Given the description of an element on the screen output the (x, y) to click on. 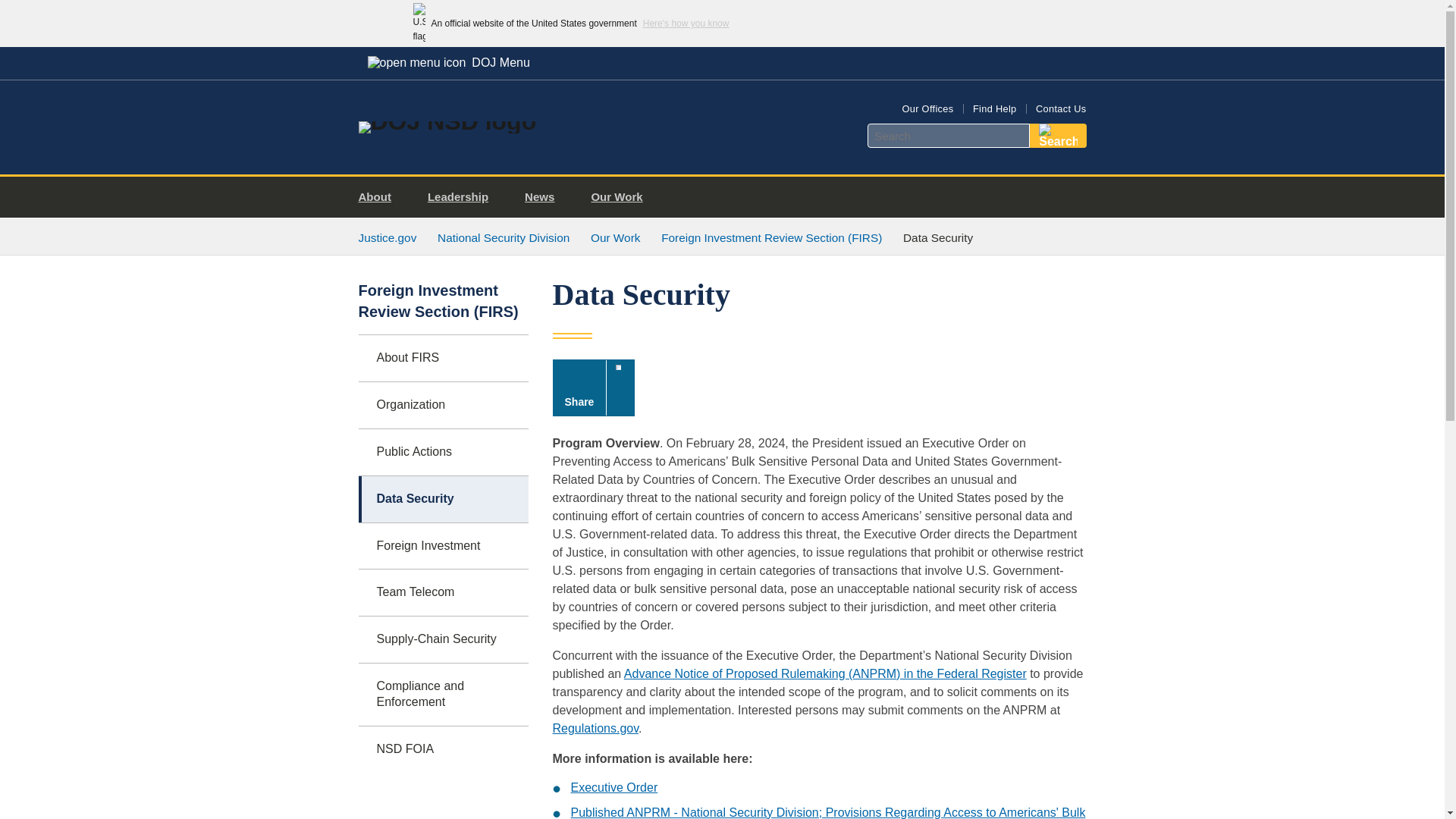
Leadership (463, 197)
National Security Division (503, 237)
Organization (442, 405)
Here's how you know (686, 23)
Our Work (622, 197)
Home (446, 121)
Foreign Investment (442, 546)
Our Offices (927, 108)
About (380, 197)
Find Help (994, 108)
